Given the description of an element on the screen output the (x, y) to click on. 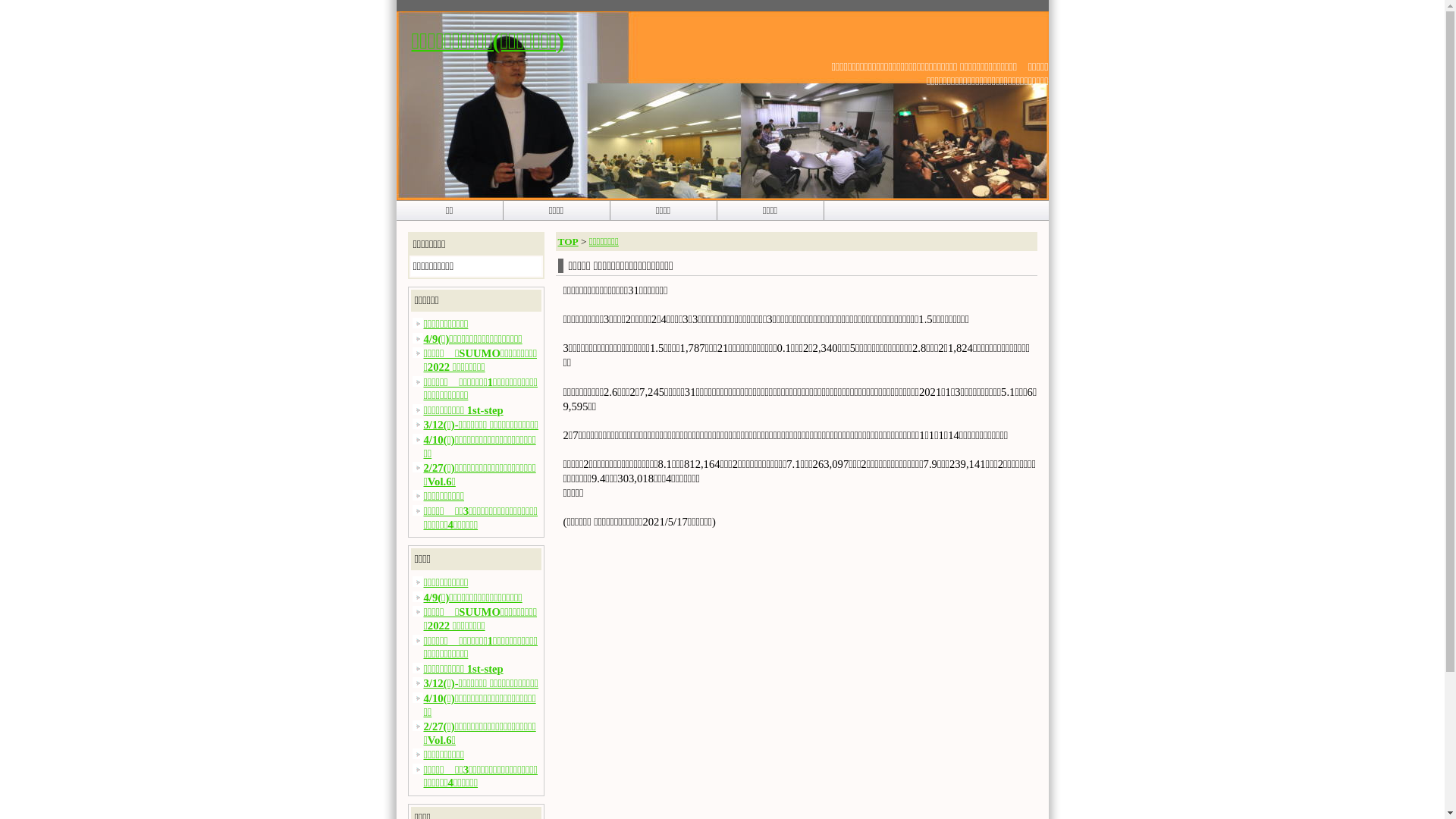
TOP Element type: text (568, 241)
